Given the description of an element on the screen output the (x, y) to click on. 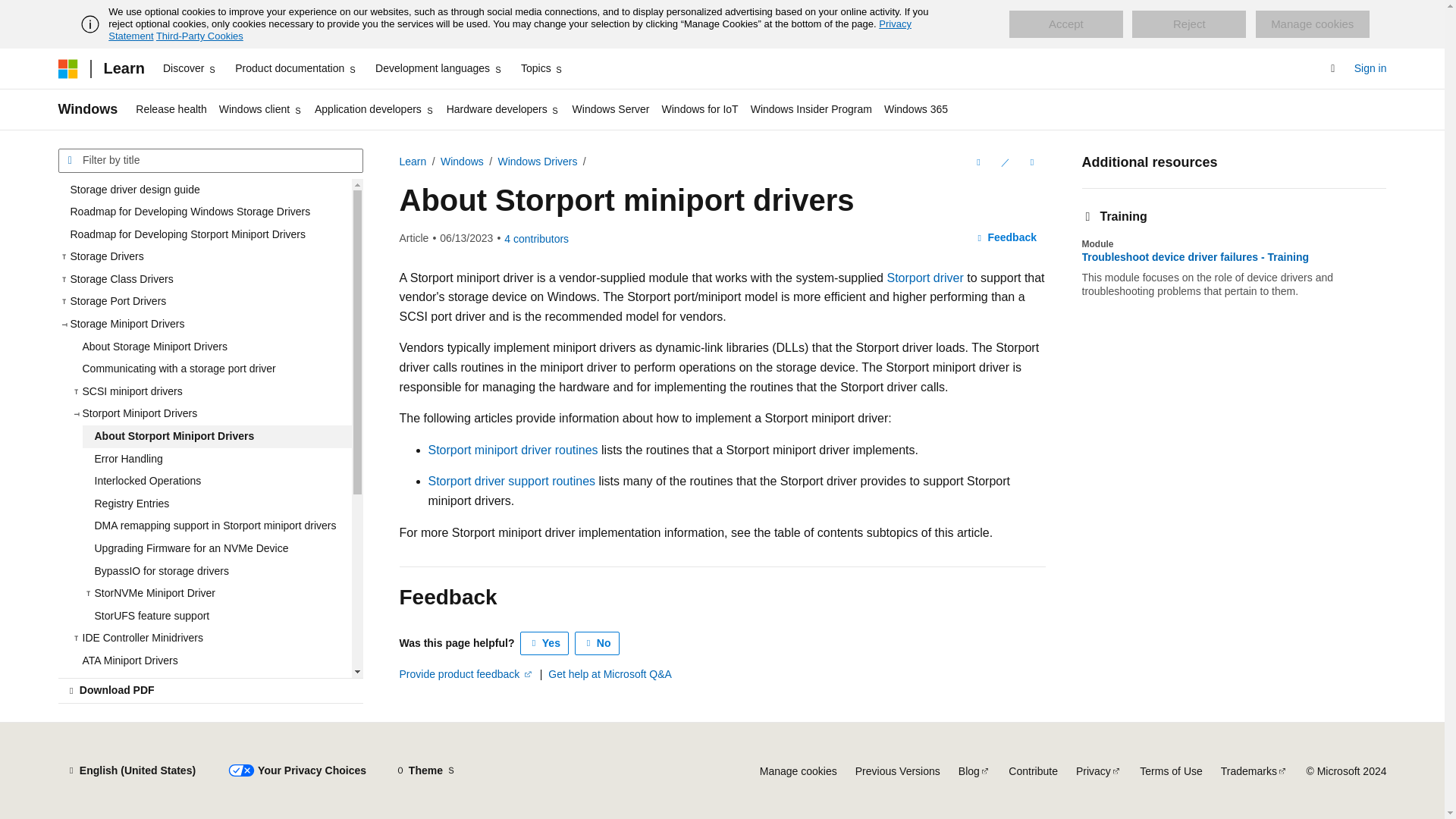
Learn (123, 68)
This article is helpful (544, 643)
Theme (425, 770)
Privacy Statement (509, 29)
Third-Party Cookies (199, 35)
Skip to main content (11, 11)
Reject (1189, 23)
Windows client (260, 109)
Development languages (438, 68)
Application developers (374, 109)
This article is not helpful (597, 643)
More actions (1031, 161)
Manage cookies (1312, 23)
Discover (189, 68)
Product documentation (295, 68)
